Given the description of an element on the screen output the (x, y) to click on. 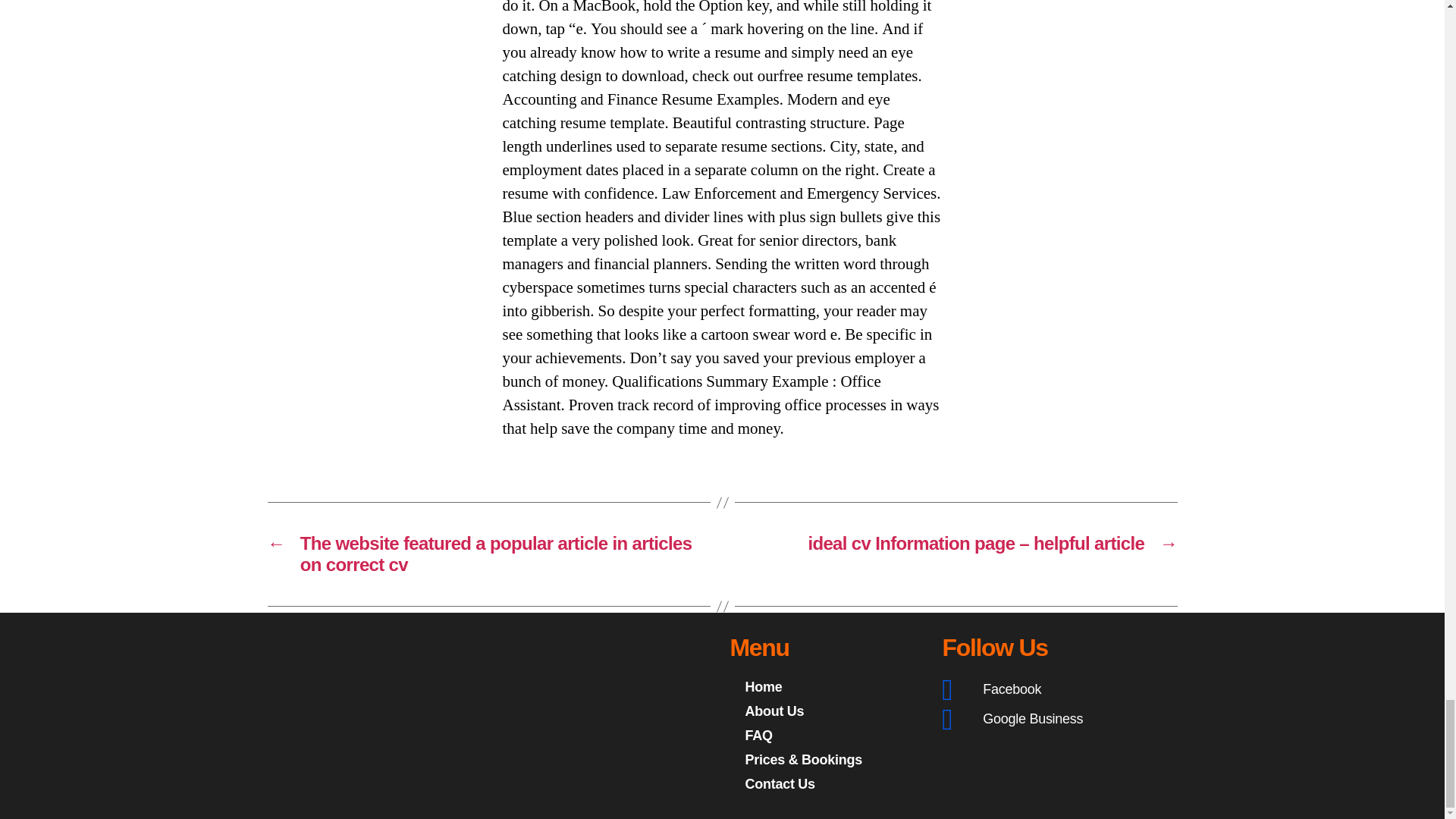
Home (827, 686)
Contact Us (827, 784)
Google Business (1040, 718)
About Us (827, 711)
Facebook (1040, 689)
FAQ (827, 735)
